Given the description of an element on the screen output the (x, y) to click on. 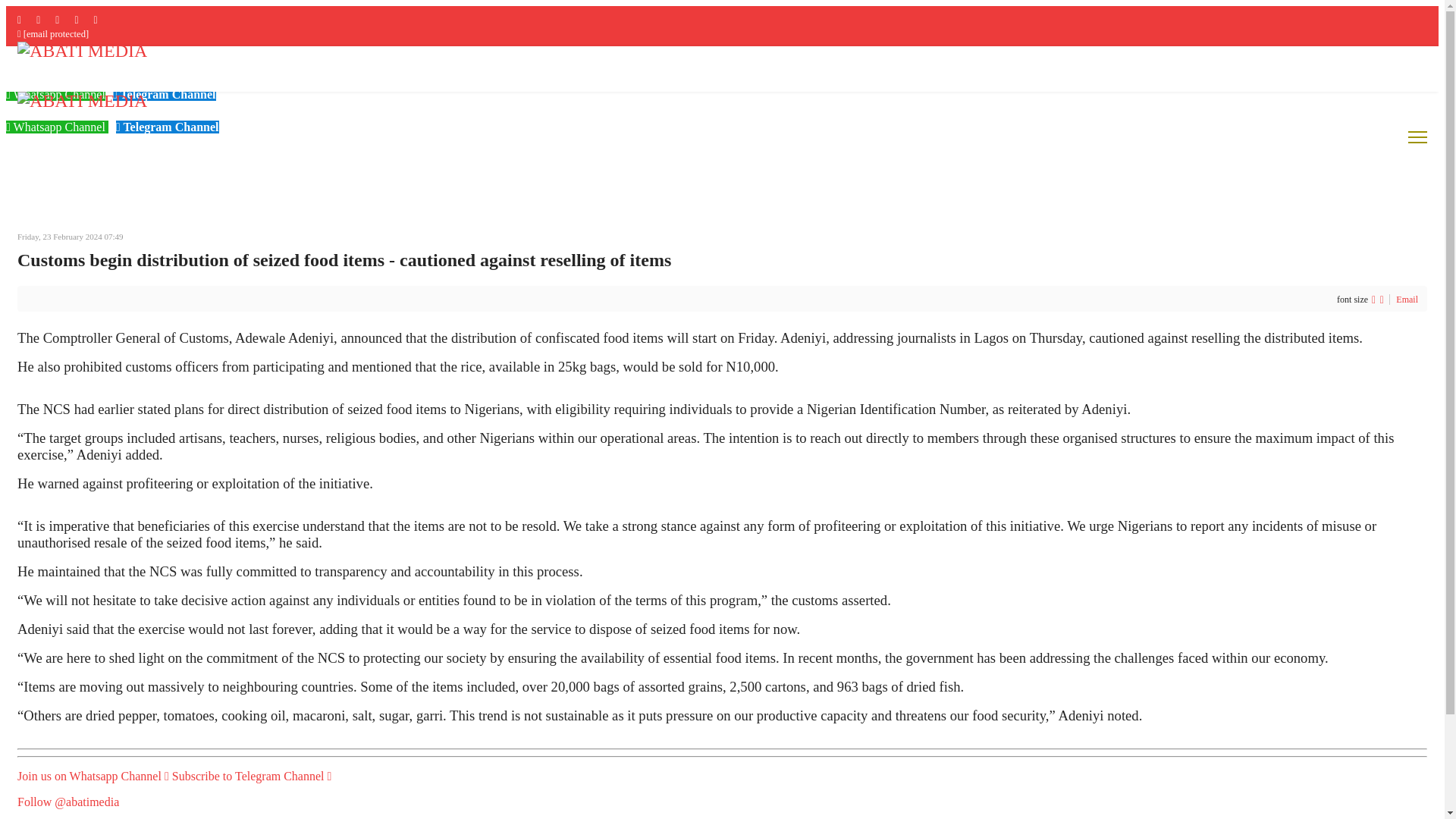
Subscribe to Telegram Channel (251, 775)
Whatsapp Channel (56, 126)
Whatsapp Channel (54, 93)
Email (1407, 299)
Join us on Whatsapp Channel (92, 775)
Telegram Channel (167, 126)
Telegram Channel (164, 93)
